Given the description of an element on the screen output the (x, y) to click on. 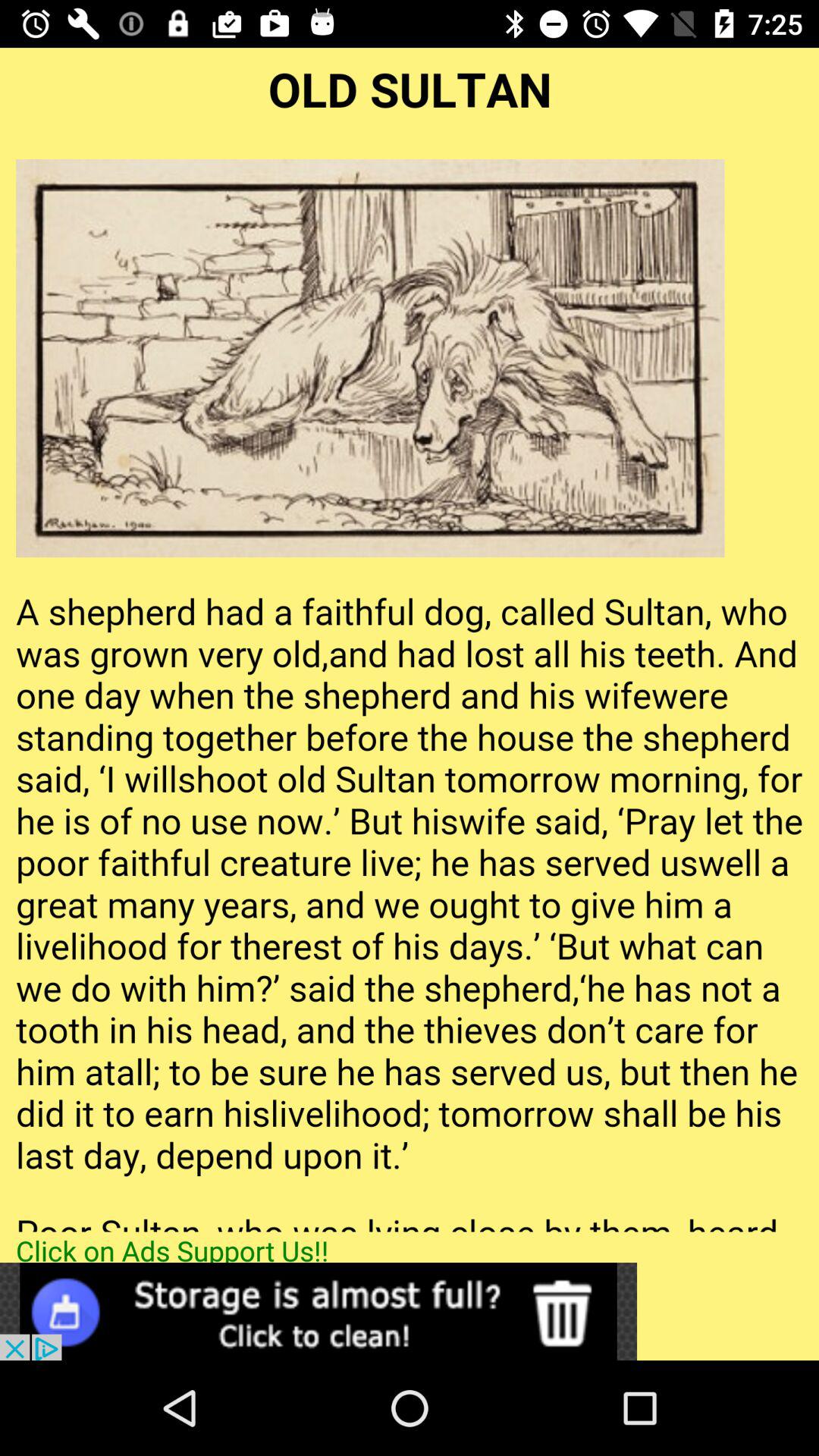
open advertisement (318, 1311)
